Given the description of an element on the screen output the (x, y) to click on. 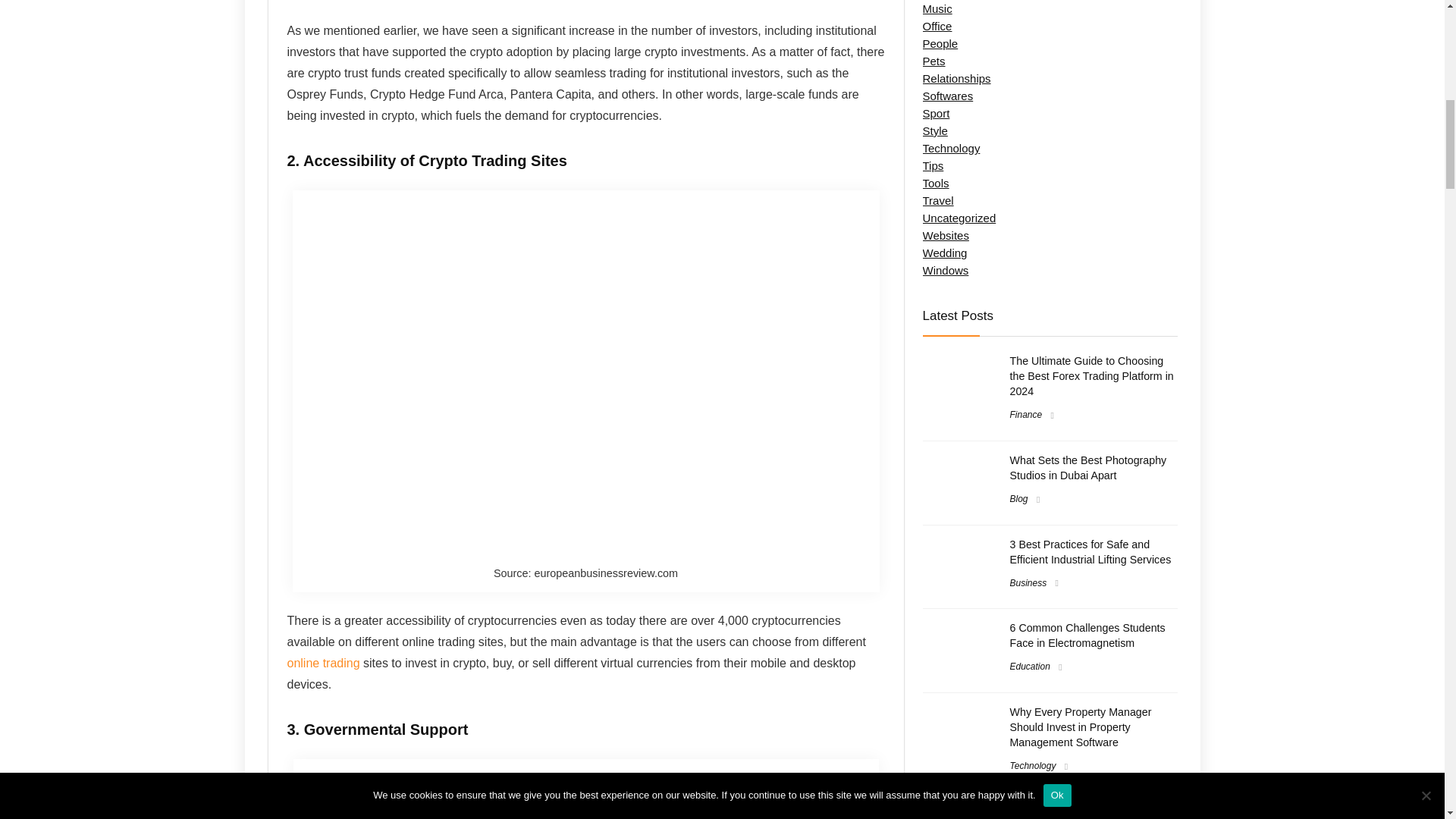
online trading (322, 662)
